Given the description of an element on the screen output the (x, y) to click on. 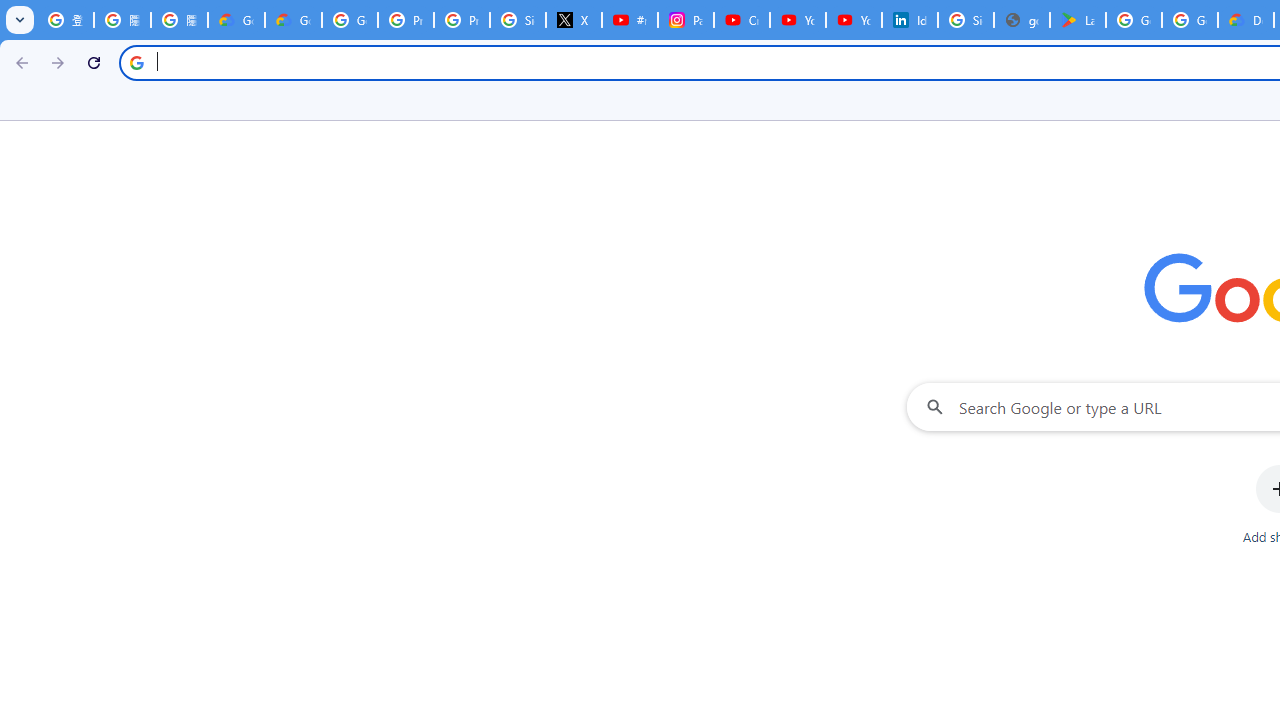
Last Shelter: Survival - Apps on Google Play (1077, 20)
Google Cloud Privacy Notice (235, 20)
Sign in - Google Accounts (966, 20)
Privacy Help Center - Policies Help (461, 20)
Privacy Help Center - Policies Help (405, 20)
X (573, 20)
Sign in - Google Accounts (518, 20)
Identity verification via Persona | LinkedIn Help (909, 20)
